Given the description of an element on the screen output the (x, y) to click on. 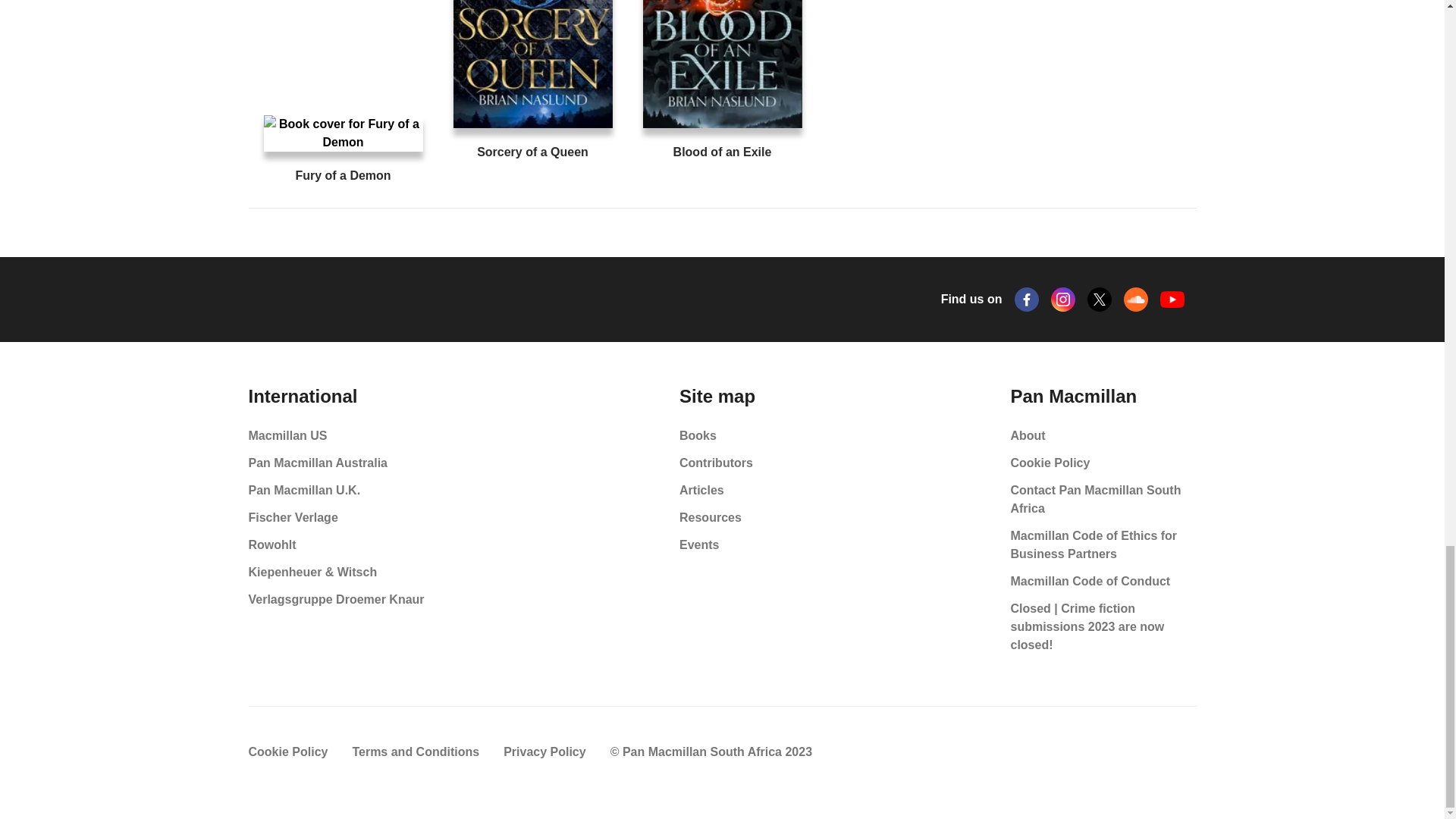
Facebook (1026, 299)
YouTube (1172, 299)
SoundCloud (1136, 299)
Instagram (1063, 299)
